Given the description of an element on the screen output the (x, y) to click on. 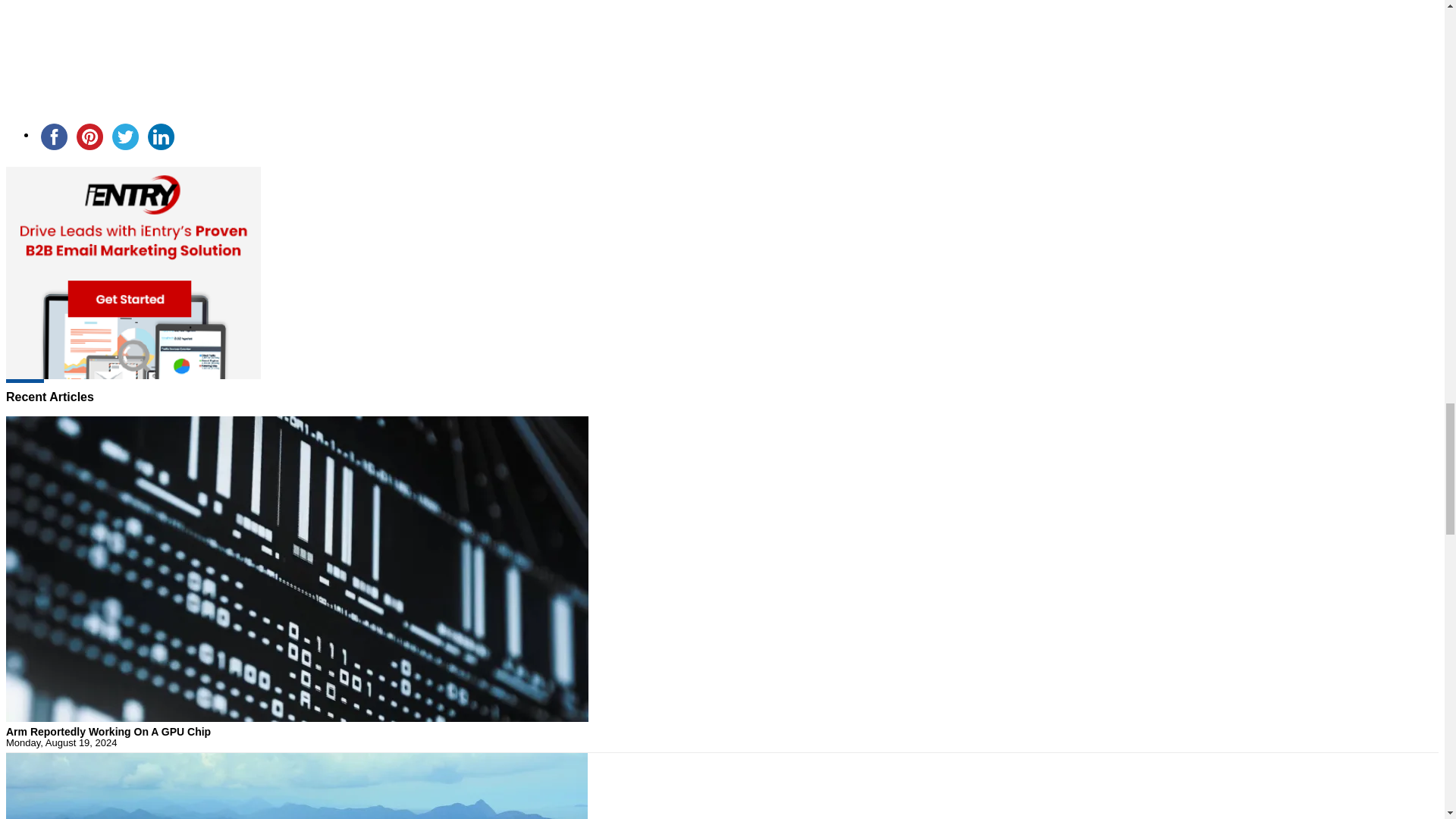
facebook (53, 136)
twitter (124, 136)
pinterest (89, 136)
